Given the description of an element on the screen output the (x, y) to click on. 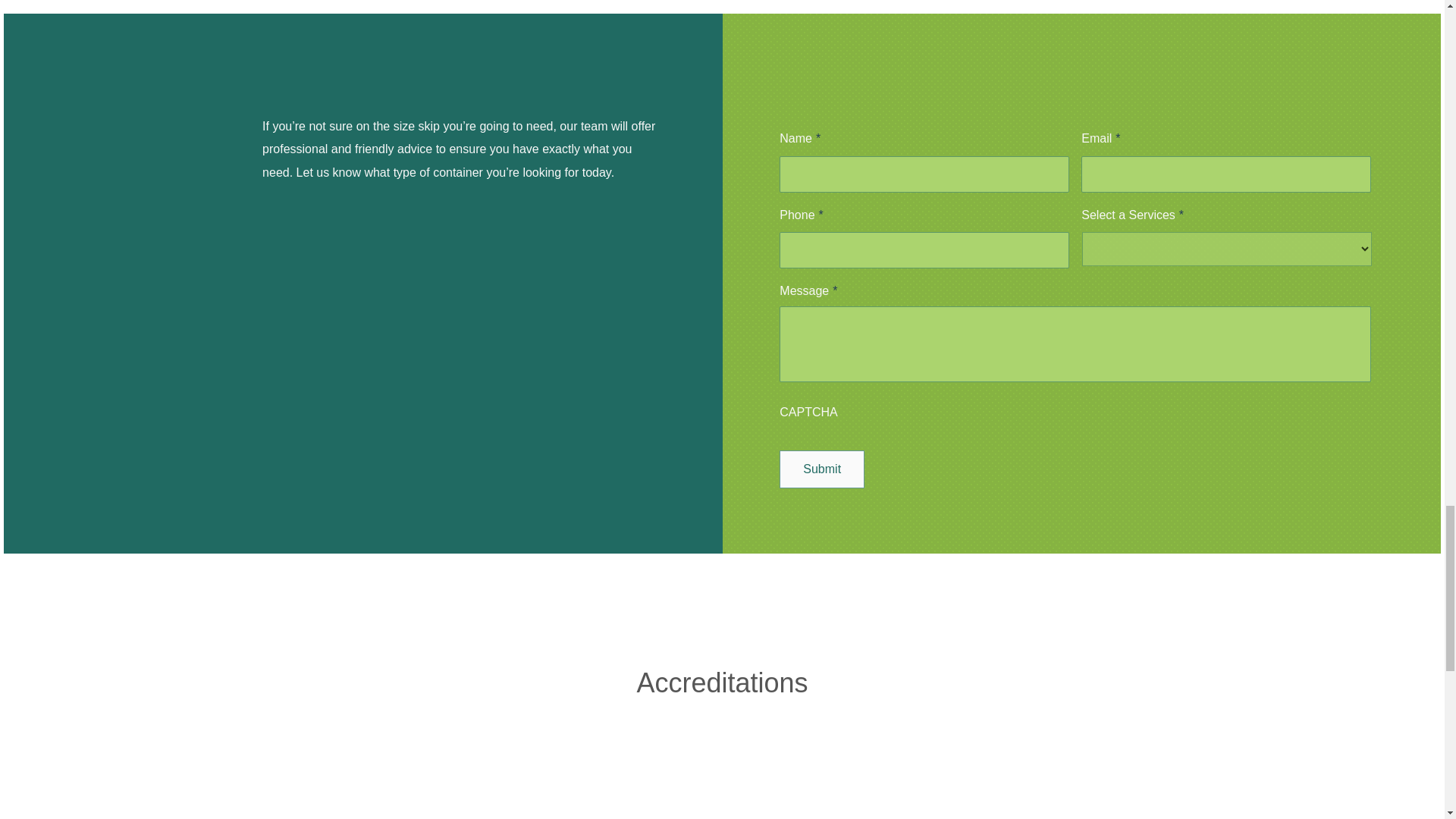
Submit (821, 469)
